Given the description of an element on the screen output the (x, y) to click on. 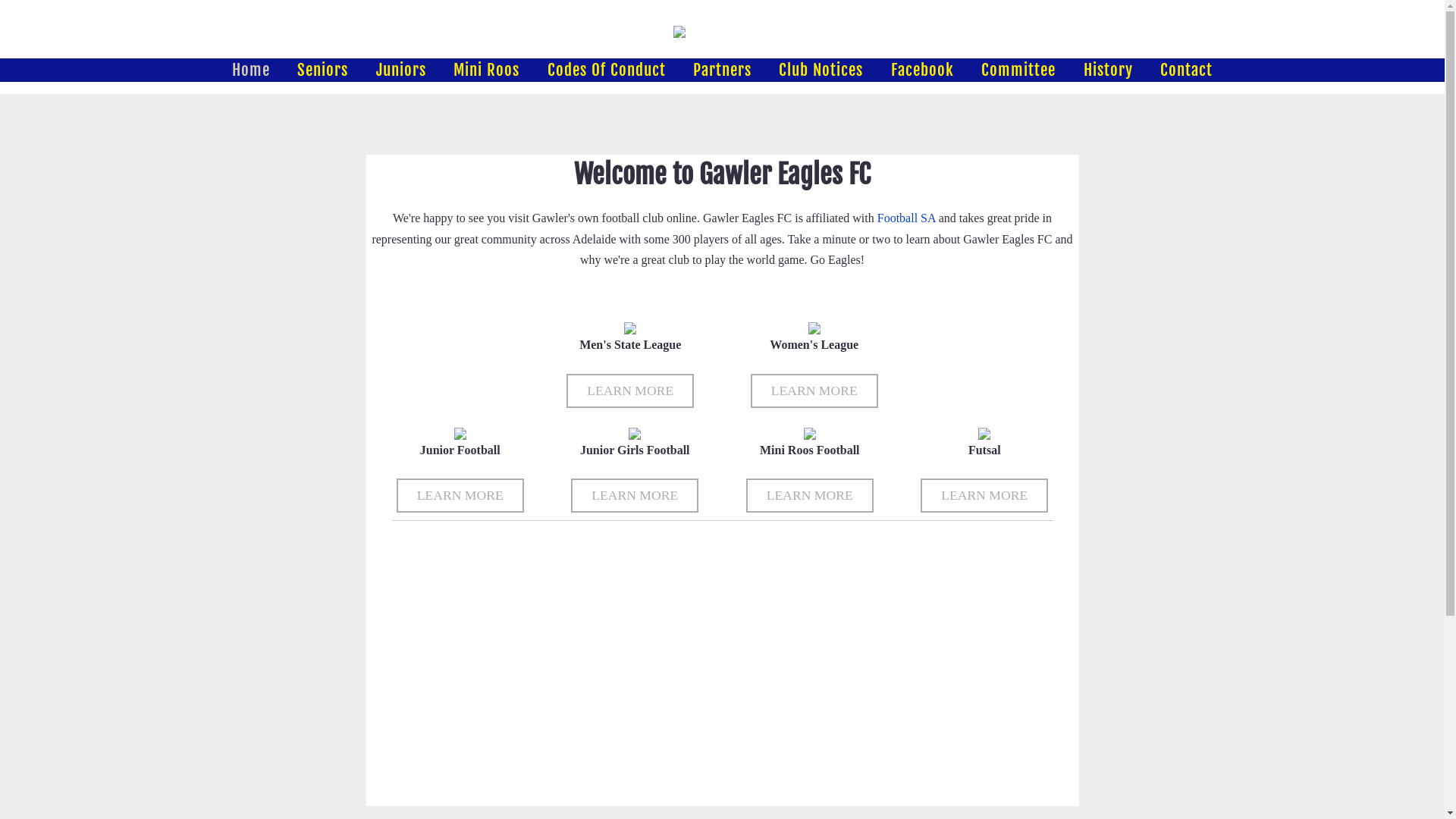
LEARN MORE Element type: text (629, 390)
LEARN MORE Element type: text (460, 495)
Club Notices Element type: text (820, 69)
Football SA Element type: text (906, 217)
Home Element type: text (250, 69)
History Element type: text (1107, 69)
Juniors Element type: text (401, 69)
Partners Element type: text (722, 69)
Committee Element type: text (1018, 69)
Mini Roos Element type: text (486, 69)
Seniors Element type: text (322, 69)
Contact Element type: text (1186, 69)
LEARN MORE Element type: text (984, 495)
LEARN MORE Element type: text (634, 495)
Codes Of Conduct Element type: text (606, 69)
LEARN MORE Element type: text (809, 495)
Facebook Element type: text (922, 69)
LEARN MORE Element type: text (814, 390)
